Given the description of an element on the screen output the (x, y) to click on. 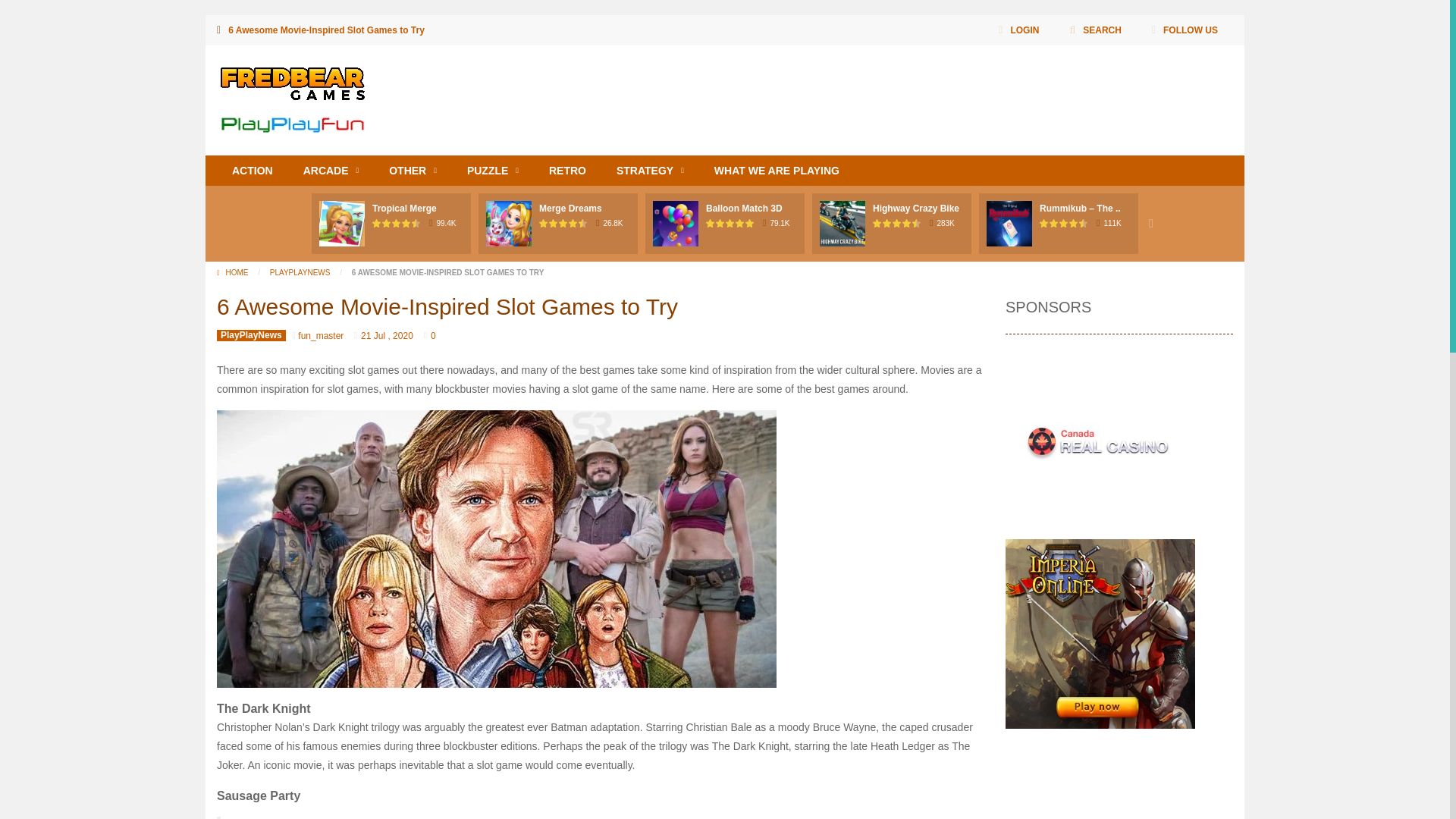
122 votes, average: 4.92 out of 5 (386, 223)
122 votes, average: 4.92 out of 5 (396, 223)
ACTION (252, 170)
WHAT WE ARE PLAYING (776, 170)
122 votes, average: 4.92 out of 5 (376, 223)
122 votes, average: 4.92 out of 5 (406, 223)
OTHER (412, 170)
Merge Dreams (570, 208)
FOLLOW US (1184, 30)
RETRO (567, 170)
